Given the description of an element on the screen output the (x, y) to click on. 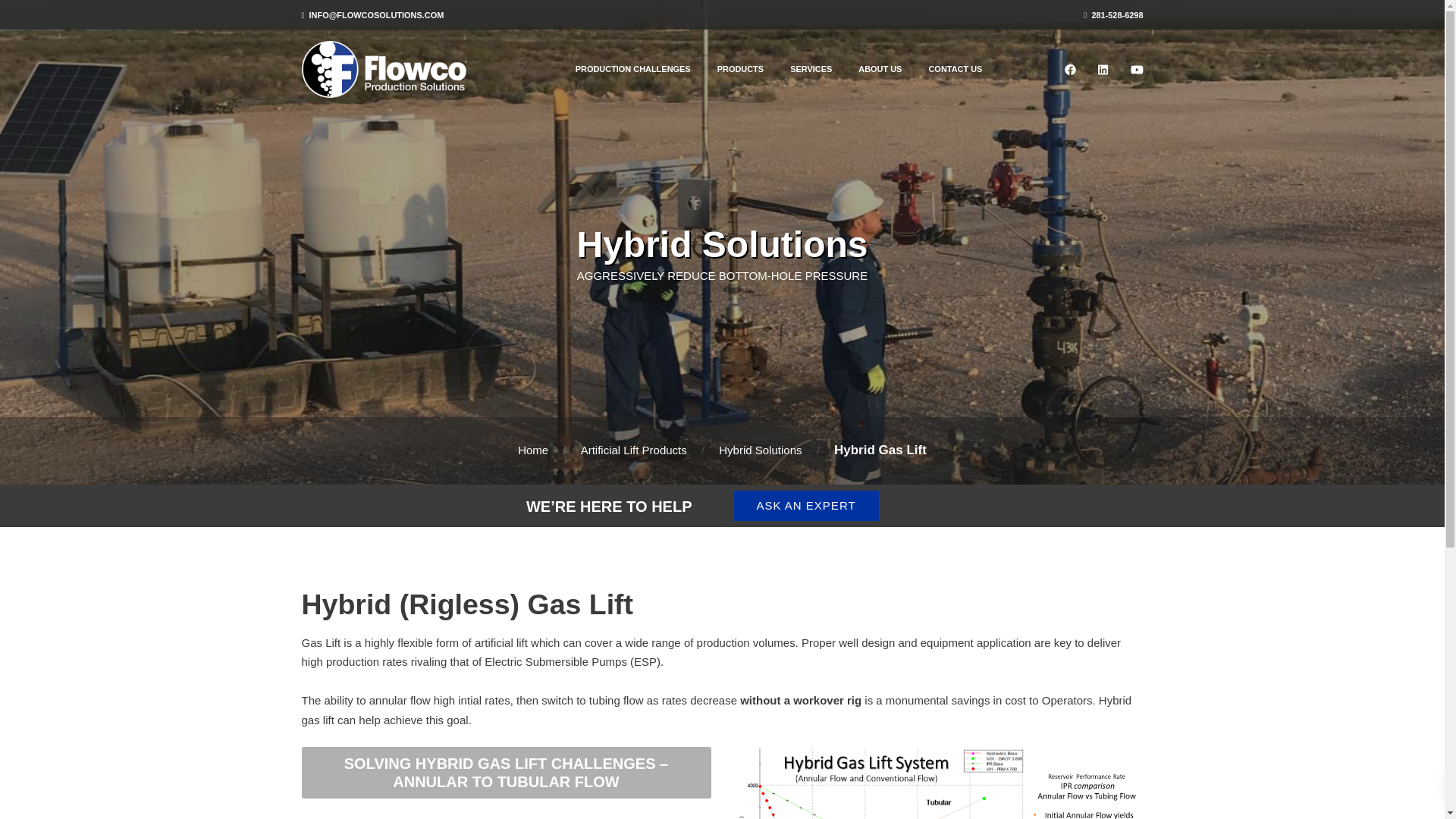
SERVICES (810, 69)
281-528-6298 (1112, 15)
PRODUCTS (740, 69)
PRODUCTION CHALLENGES (633, 69)
